Given the description of an element on the screen output the (x, y) to click on. 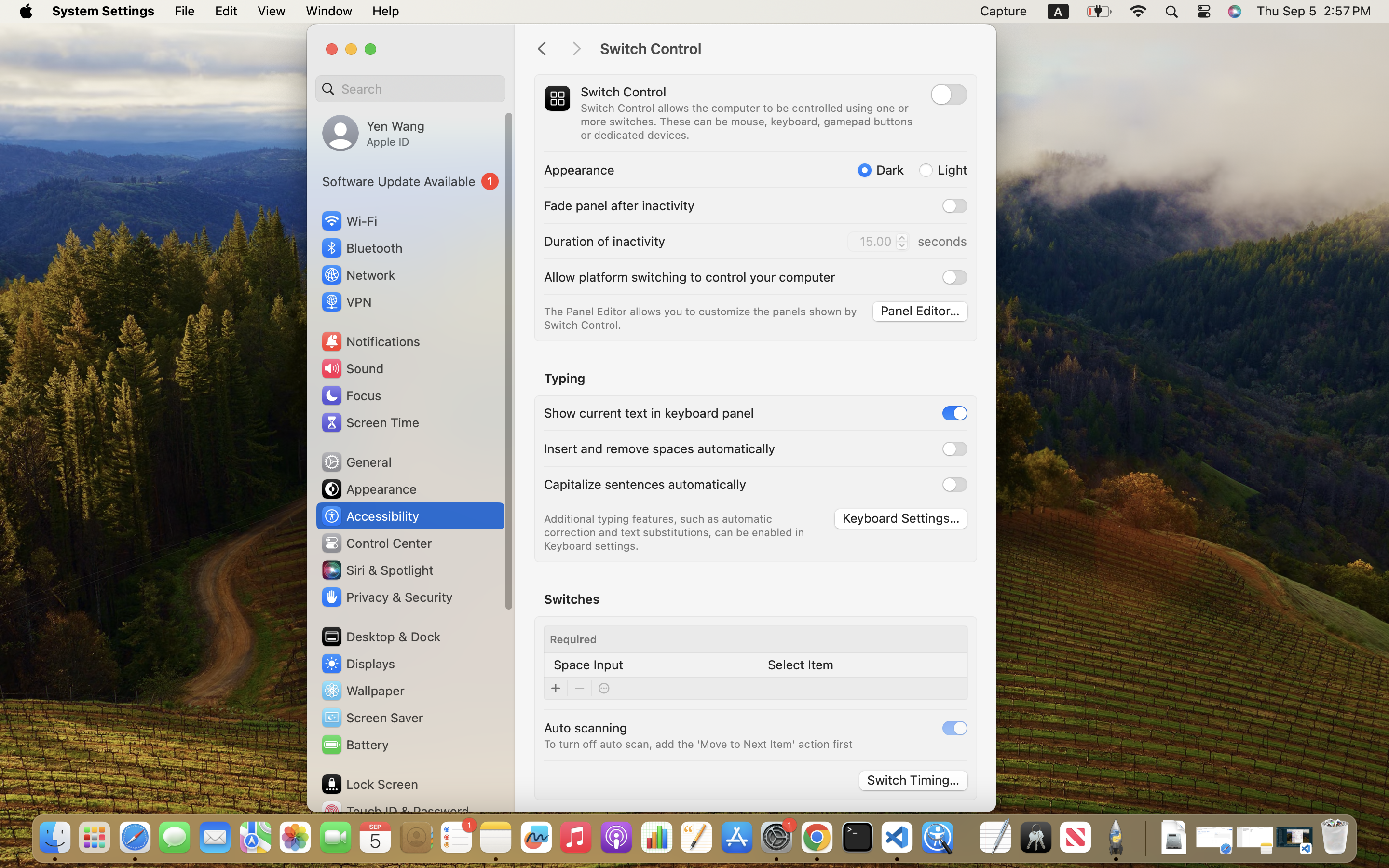
Required Element type: AXStaticText (573, 639)
Appearance Element type: AXStaticText (368, 488)
Auto scanning Element type: AXStaticText (585, 726)
Capitalize sentences automatically Element type: AXStaticText (645, 483)
Touch ID & Password Element type: AXStaticText (394, 810)
